Given the description of an element on the screen output the (x, y) to click on. 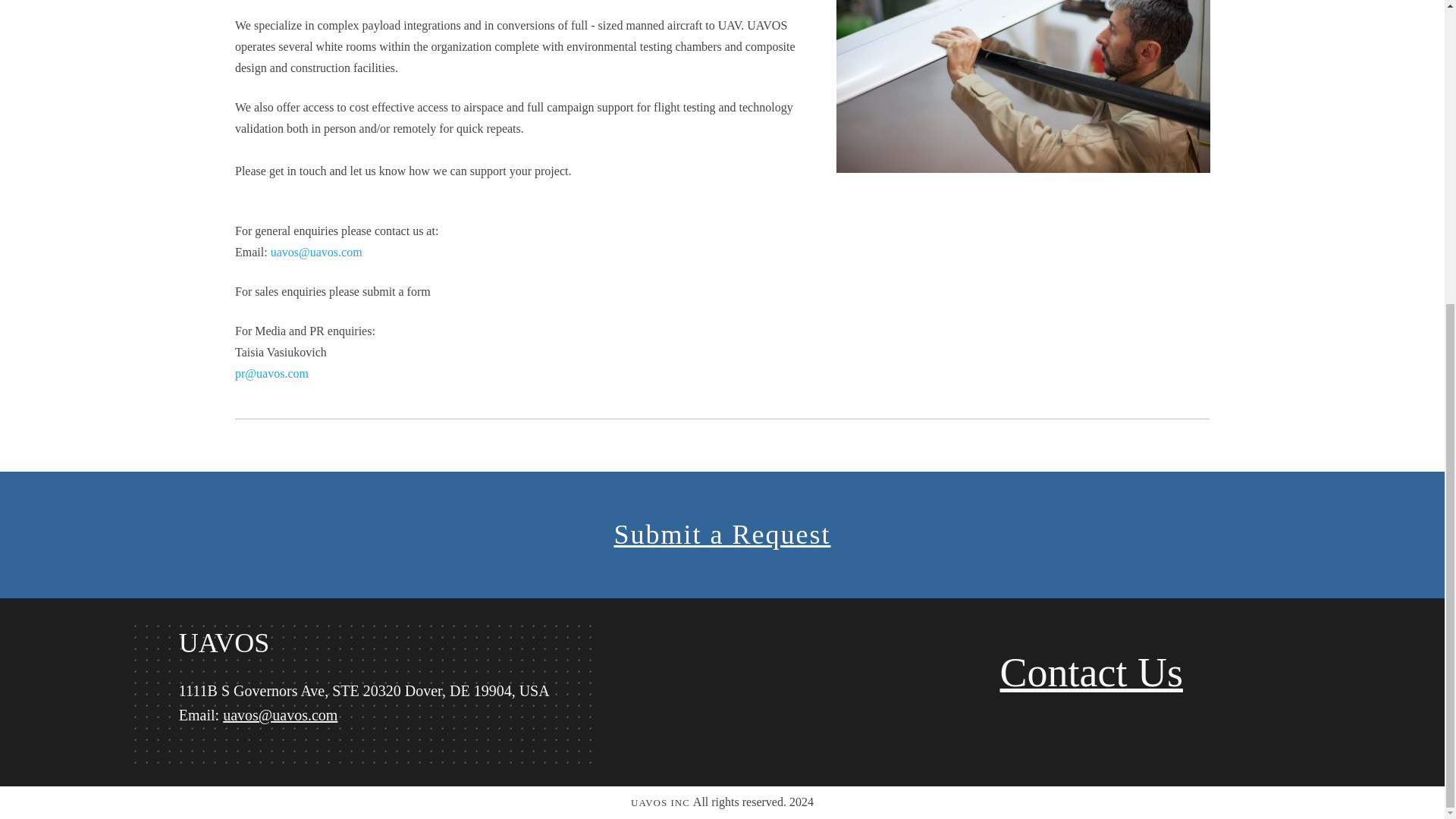
Contact Us (1090, 672)
Submit a Request (721, 535)
team (1022, 86)
